Given the description of an element on the screen output the (x, y) to click on. 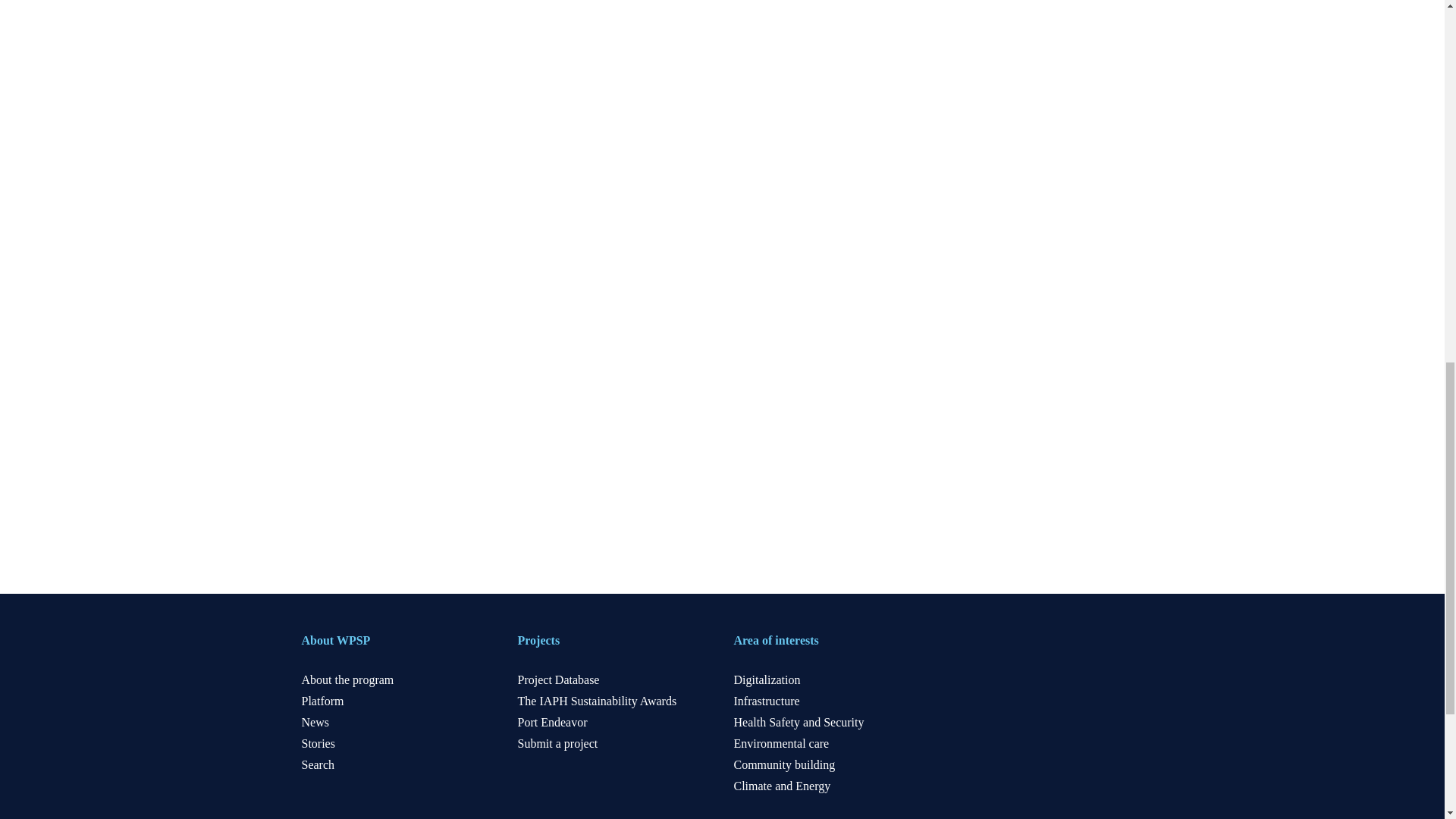
News (315, 721)
About the program (347, 679)
Platform (322, 700)
